Given the description of an element on the screen output the (x, y) to click on. 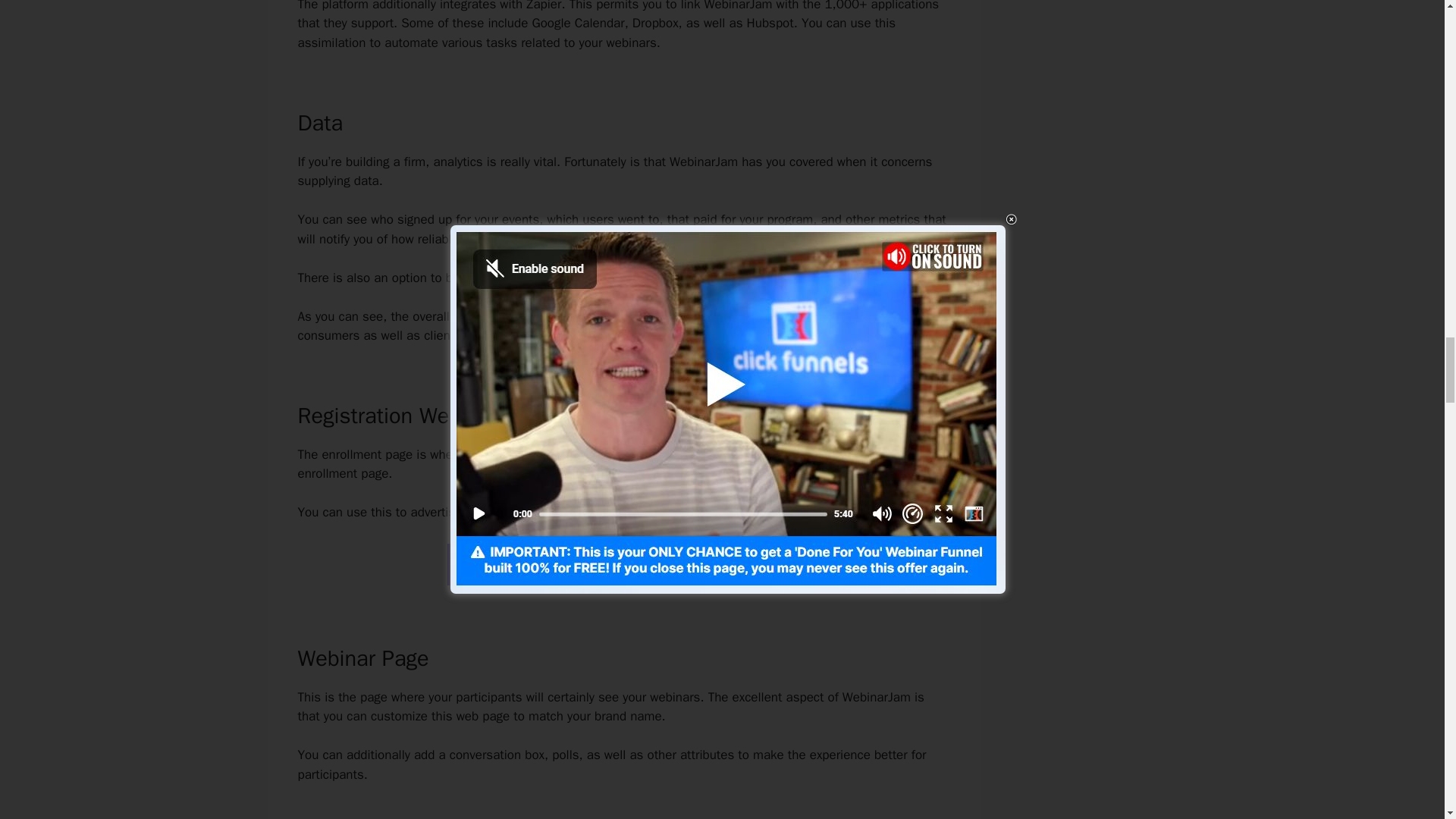
Start Your Free WebinarJam Account Here (622, 564)
